Given the description of an element on the screen output the (x, y) to click on. 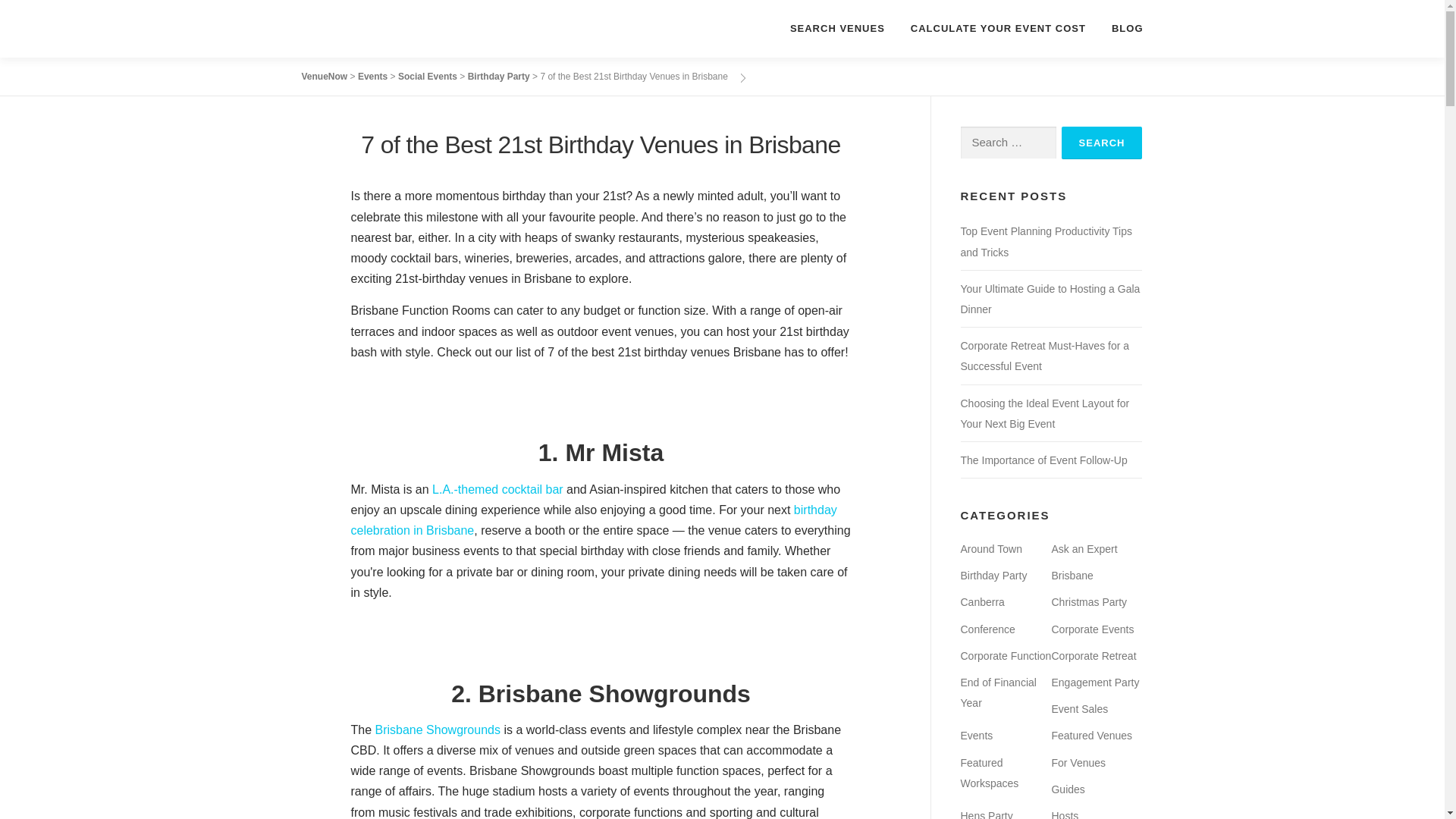
birthday celebration in Brisbane (592, 520)
Social Events (427, 76)
Search (1101, 142)
L.A.-themed cocktail bar (497, 489)
CALCULATE YOUR EVENT COST (998, 28)
VenueNow (324, 76)
Birthday Party (498, 76)
Brisbane Showgrounds (437, 729)
SEARCH VENUES (837, 28)
Events (372, 76)
Search (1101, 142)
